Given the description of an element on the screen output the (x, y) to click on. 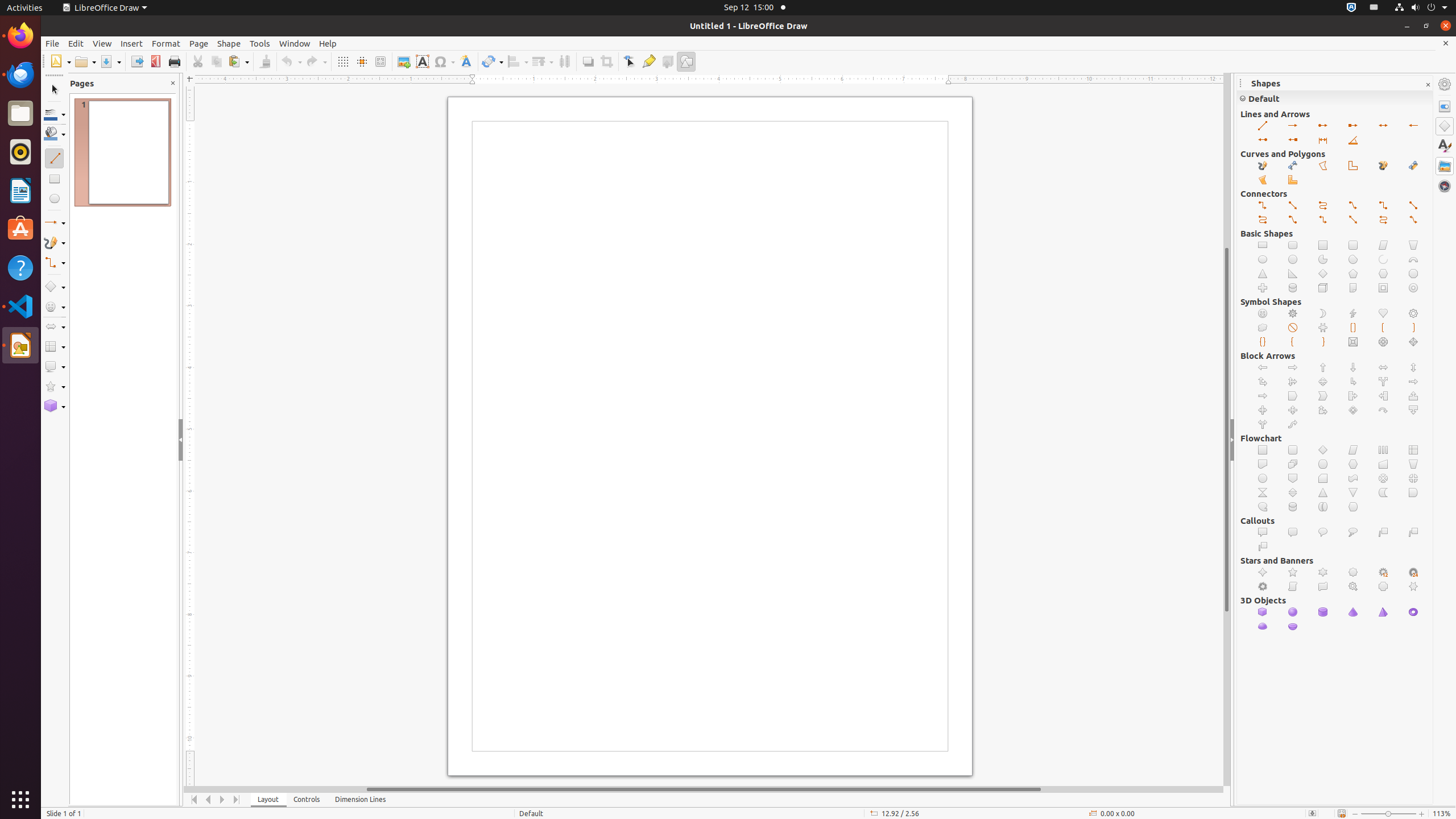
Up Arrow Element type: list-item (1323, 367)
Flowchart: Multidocument Element type: list-item (1292, 464)
Rectangle Element type: list-item (1262, 245)
Up and Right Arrow Element type: list-item (1262, 381)
Cloud Element type: list-item (1353, 532)
